Given the description of an element on the screen output the (x, y) to click on. 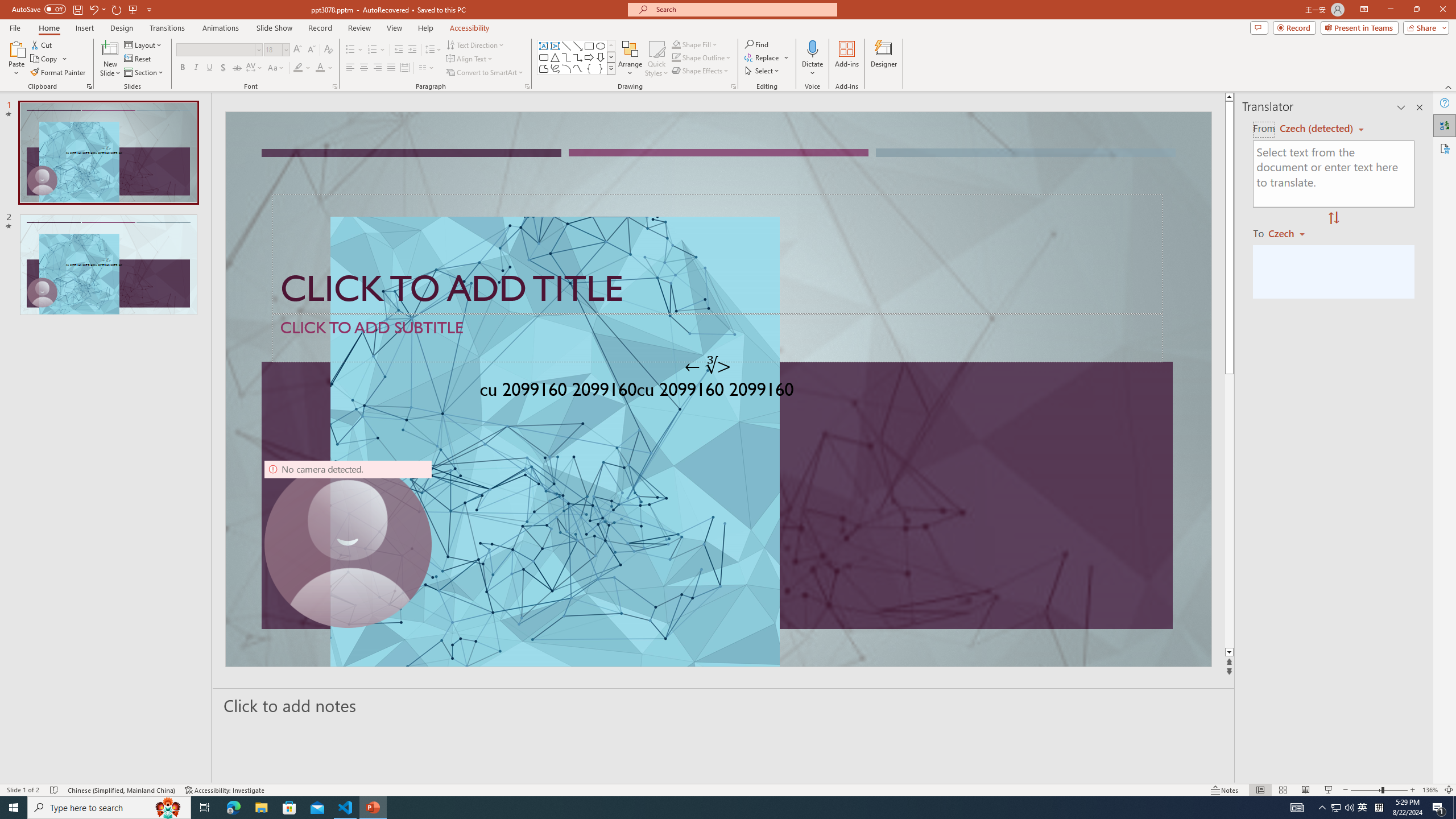
Paste (16, 58)
Convert to SmartArt (485, 72)
Czech (detected) (1317, 128)
Row up (611, 45)
Arrow: Right (589, 57)
Bold (182, 67)
Rectangle: Rounded Corners (543, 57)
